Given the description of an element on the screen output the (x, y) to click on. 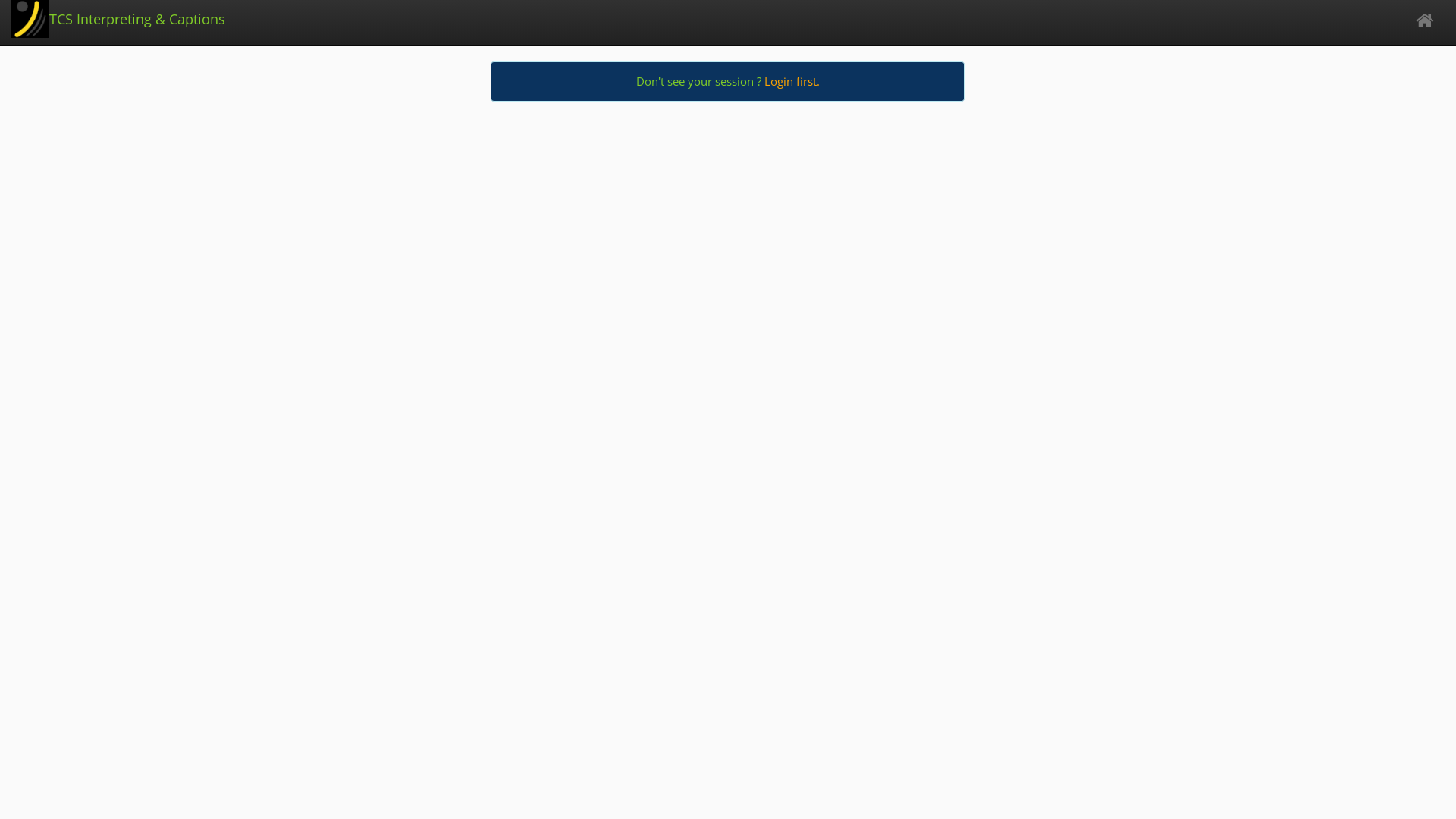
Login first. Element type: text (791, 80)
